Given the description of an element on the screen output the (x, y) to click on. 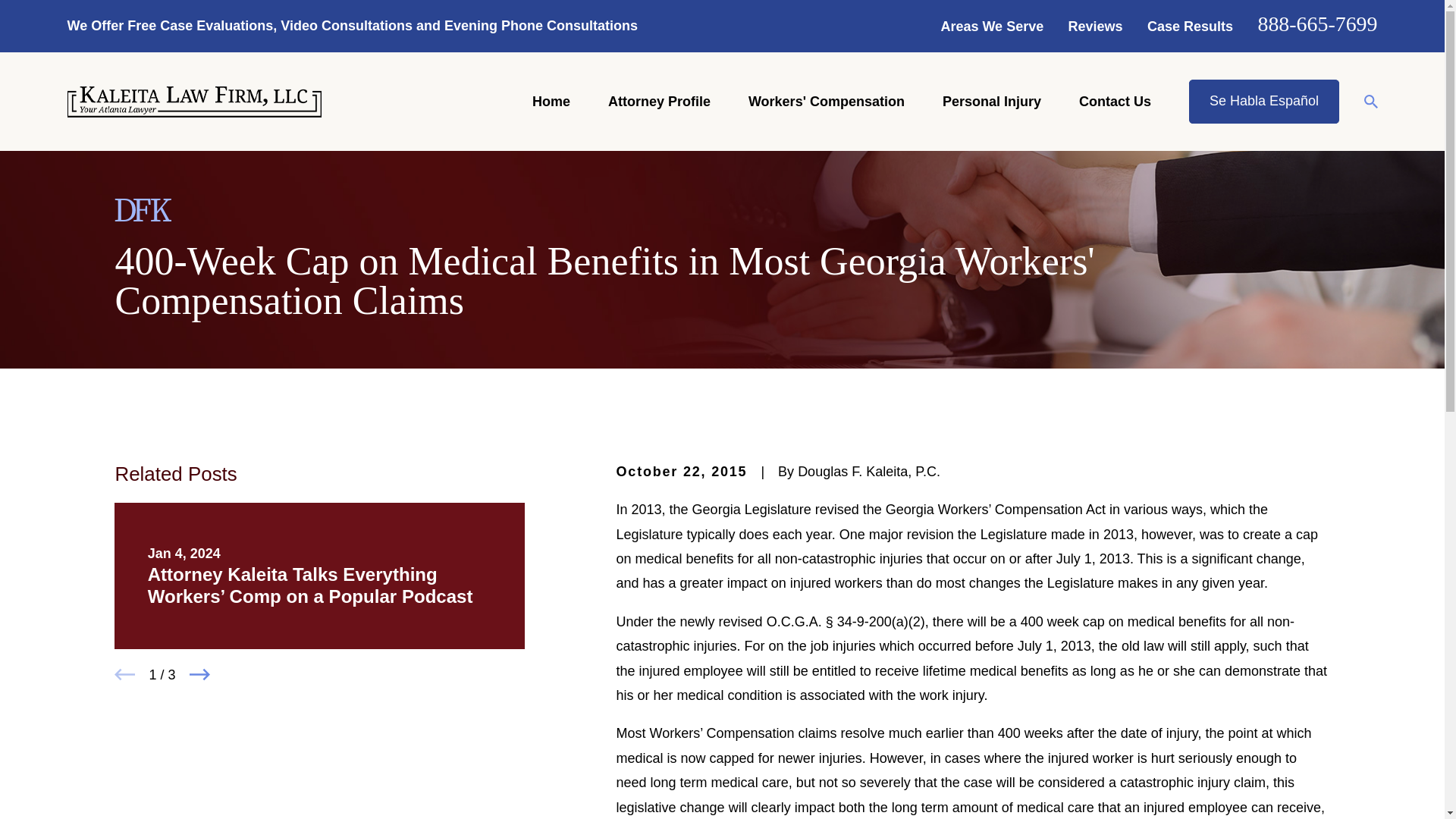
Workers' Compensation (826, 101)
Case Results (1190, 25)
Reviews (1095, 25)
View next item (199, 674)
888-665-7699 (1317, 24)
View previous item (125, 674)
Areas We Serve (991, 25)
Personal Injury (991, 101)
Attorney Profile (659, 101)
Home (193, 101)
